Given the description of an element on the screen output the (x, y) to click on. 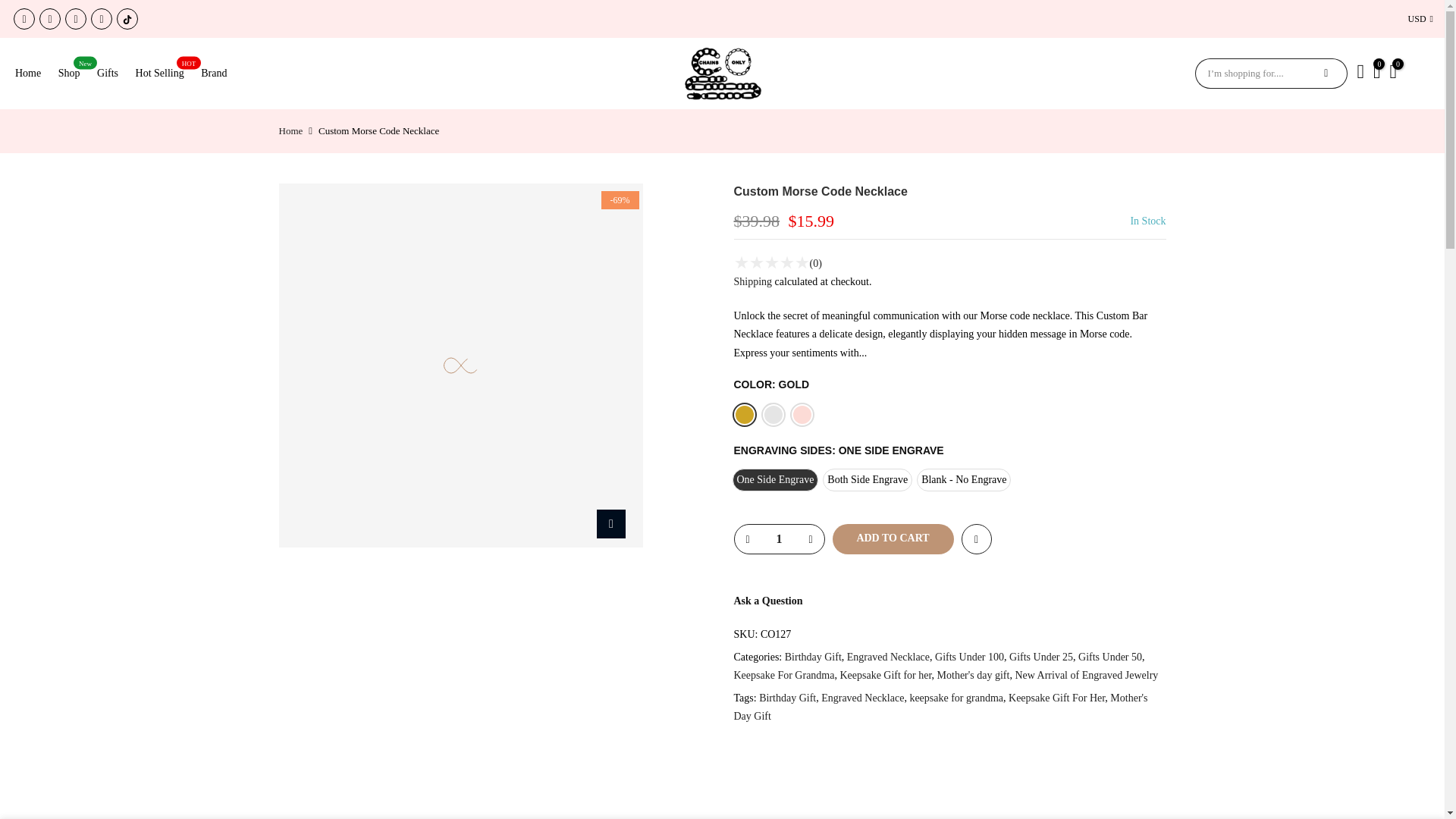
Home (33, 73)
Home (290, 130)
1 (778, 538)
Brand (218, 73)
